Given the description of an element on the screen output the (x, y) to click on. 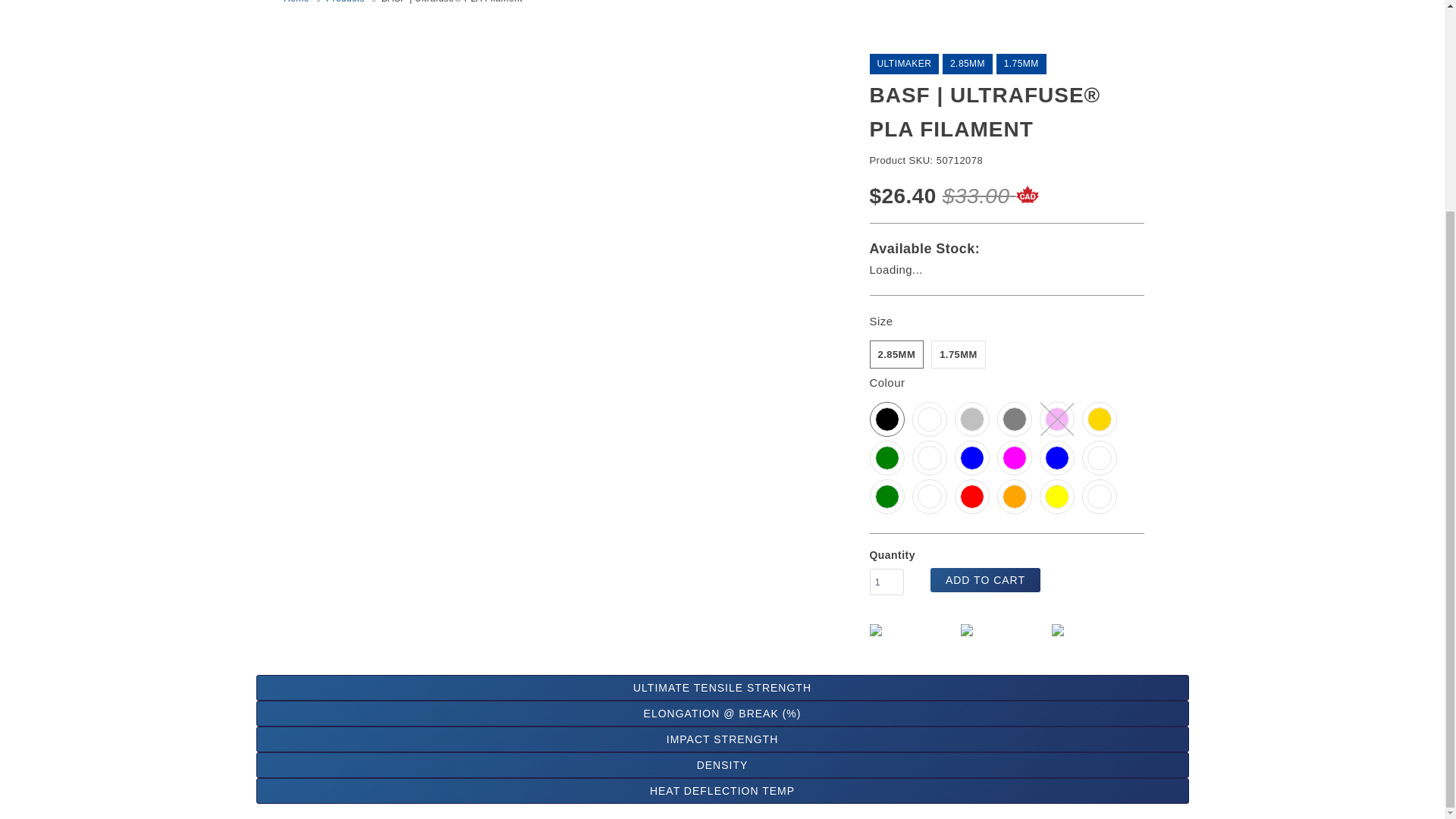
Shop3D.ca (295, 2)
1 (885, 581)
Products (345, 2)
